Given the description of an element on the screen output the (x, y) to click on. 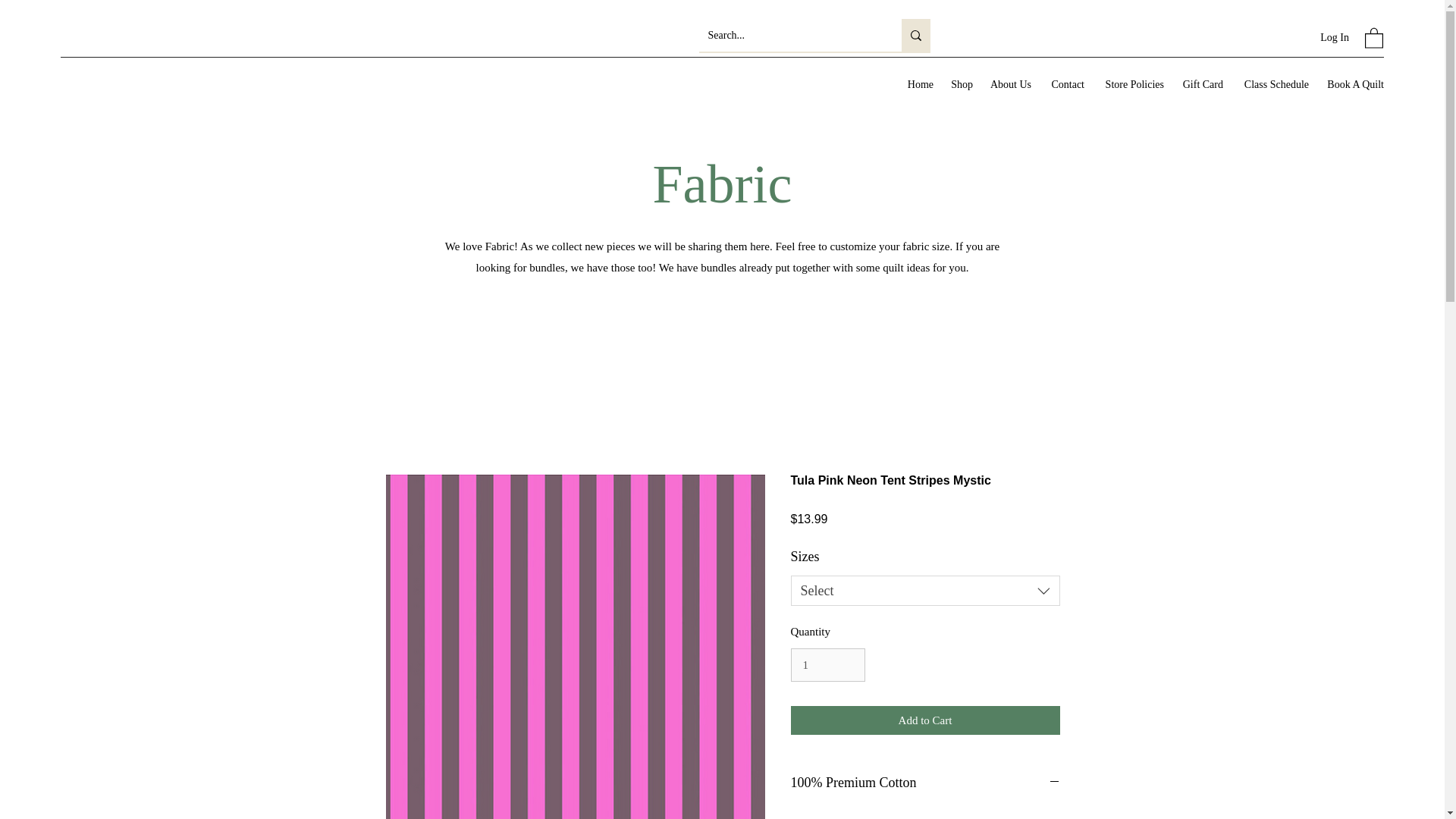
Class Schedule (1273, 84)
About Us (1009, 84)
1 (827, 664)
Log In (1333, 37)
Shop (959, 84)
Add to Cart (924, 720)
Contact (1065, 84)
Home (918, 84)
Store Policies (1132, 84)
Book A Quilt (1353, 84)
Gift Card (1201, 84)
Select (924, 590)
